Given the description of an element on the screen output the (x, y) to click on. 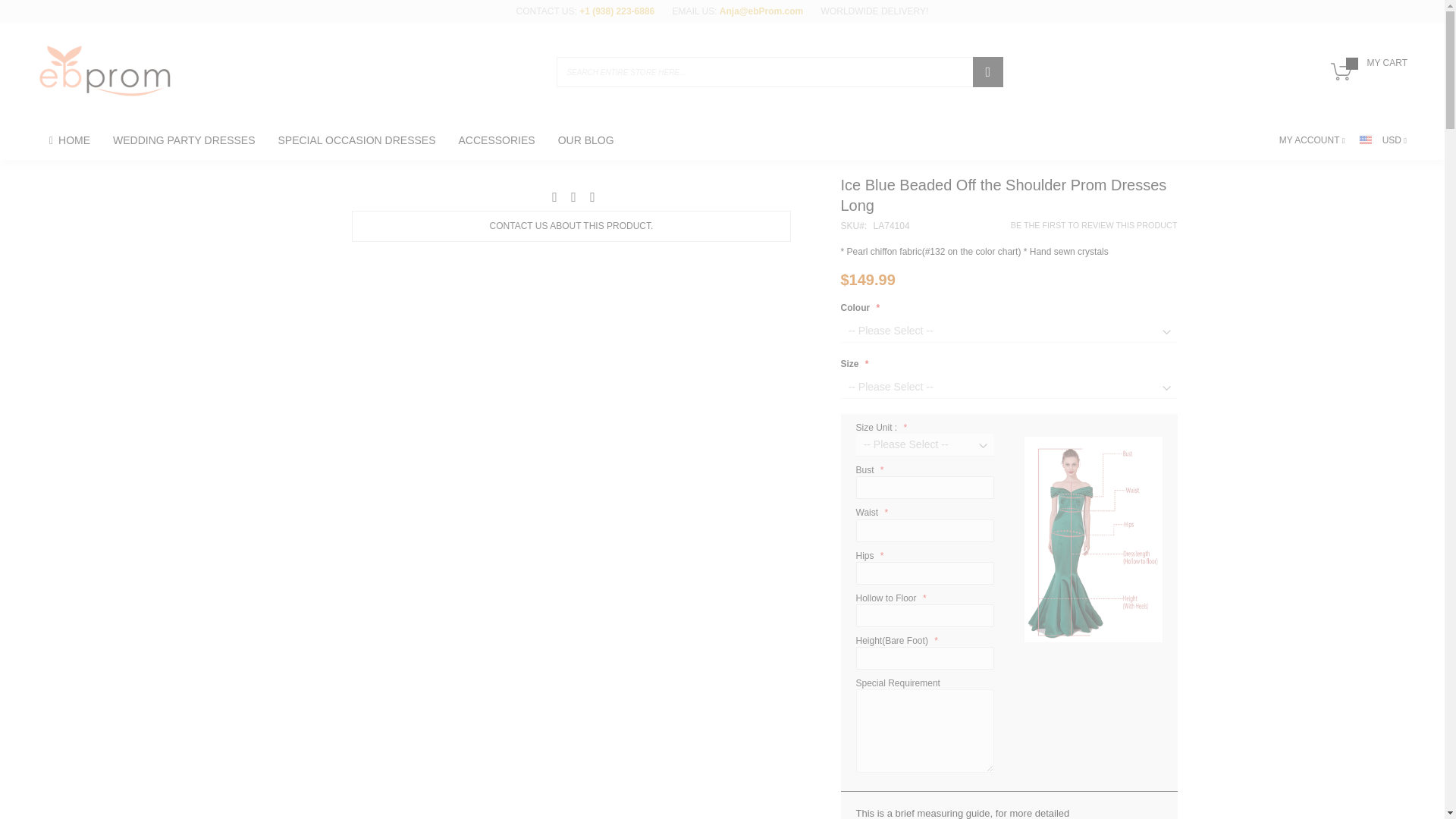
SPECIAL OCCASION DRESSES (356, 140)
MY CART (1365, 77)
WEDDING PARTY DRESSES (183, 140)
HOME (69, 140)
Search (987, 71)
ebProm (104, 70)
SEARCH (987, 71)
